Given the description of an element on the screen output the (x, y) to click on. 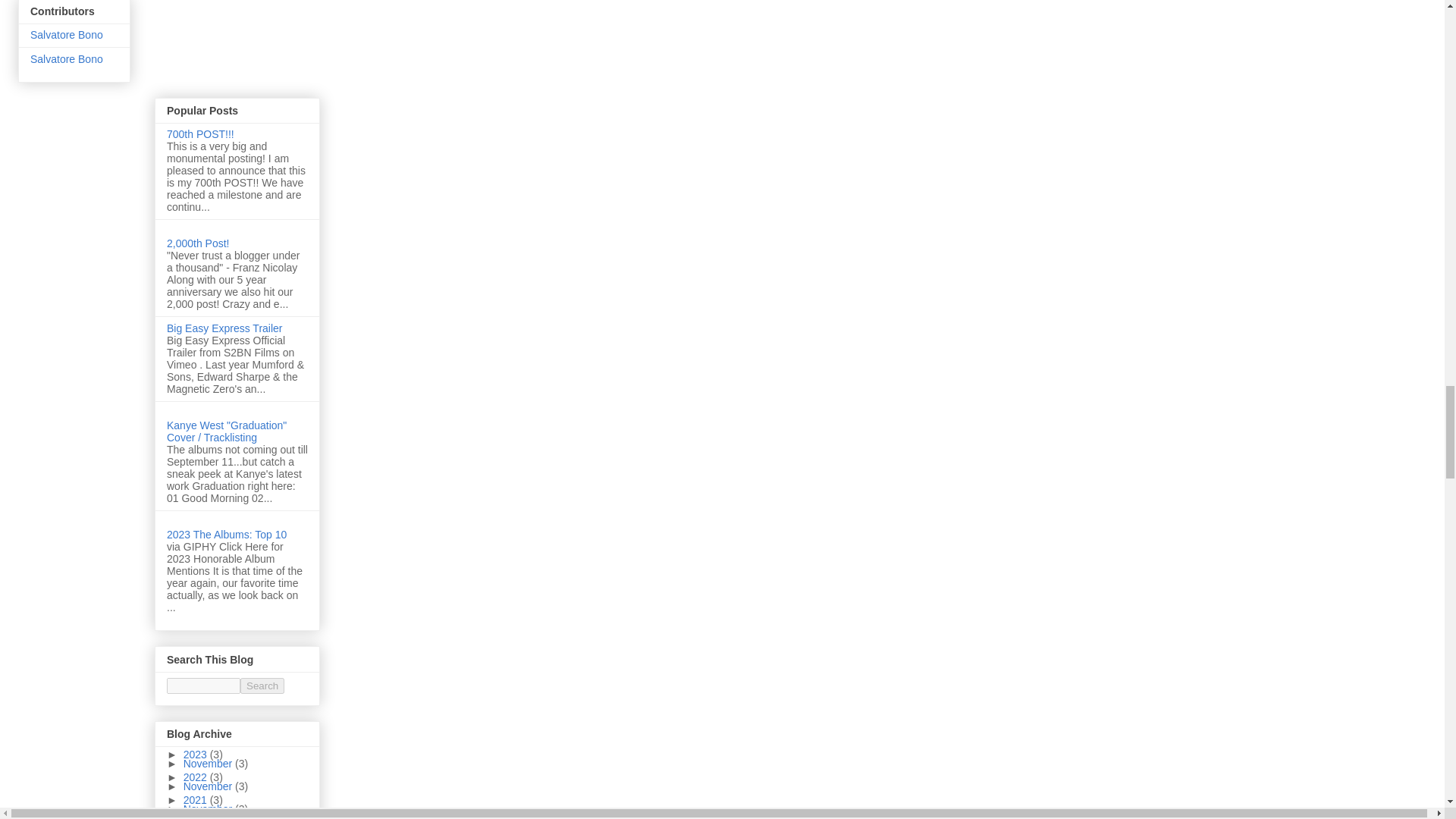
2,000th Post! (198, 243)
2023 The Albums: Top 10 (226, 534)
search (203, 685)
Search (261, 685)
Search (261, 685)
Salvatore Bono (66, 34)
700th POST!!! (200, 133)
Salvatore Bono (66, 59)
Search (261, 685)
Big Easy Express Trailer (224, 328)
